Given the description of an element on the screen output the (x, y) to click on. 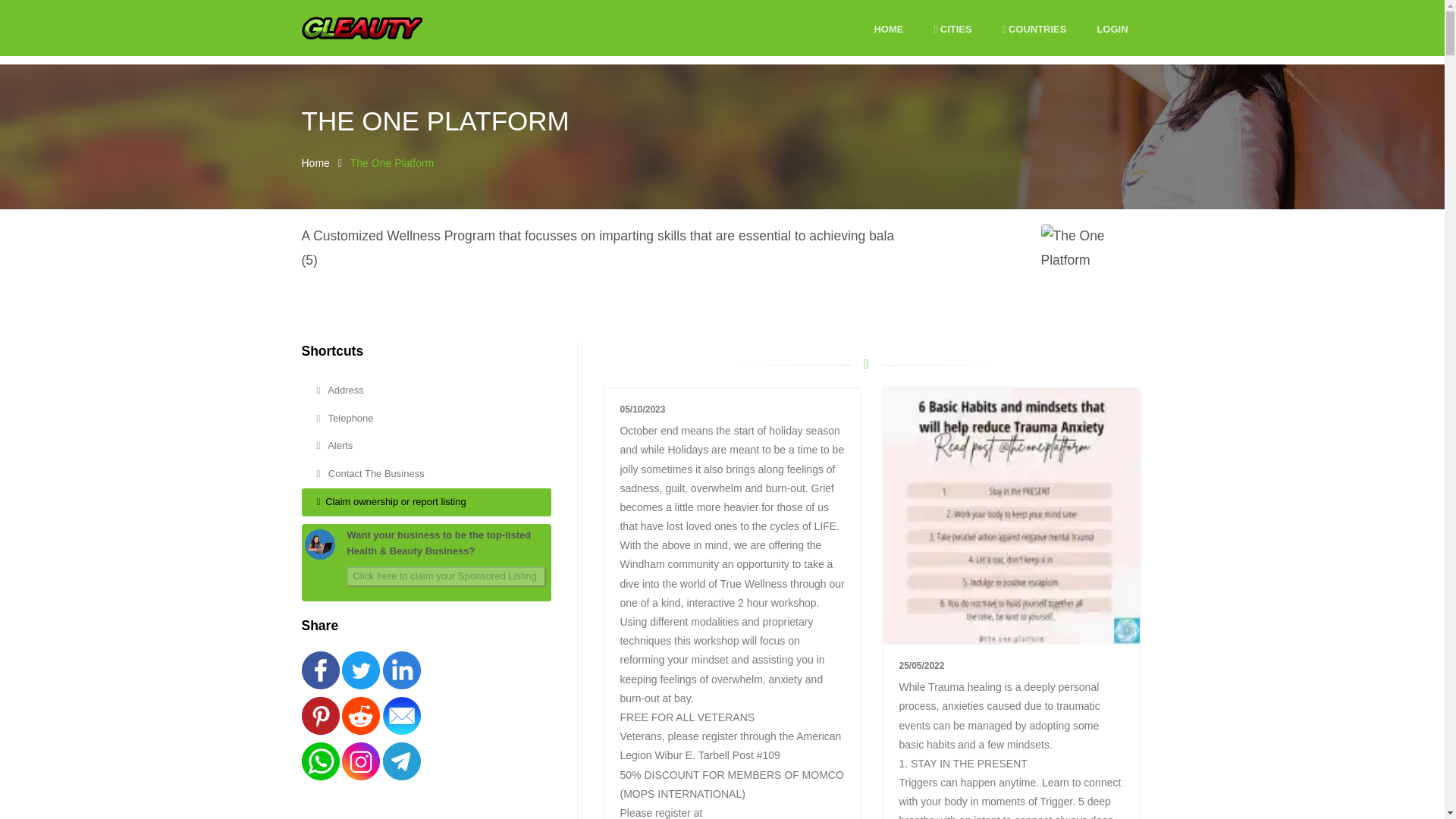
Alerts (426, 446)
Contact The Business (426, 474)
Address (426, 390)
Claim ownership or report listing (426, 502)
HOME (887, 29)
Click here to claim your Sponsored Listing. (445, 576)
Home (315, 162)
CITIES (952, 29)
Telephone (426, 418)
